Given the description of an element on the screen output the (x, y) to click on. 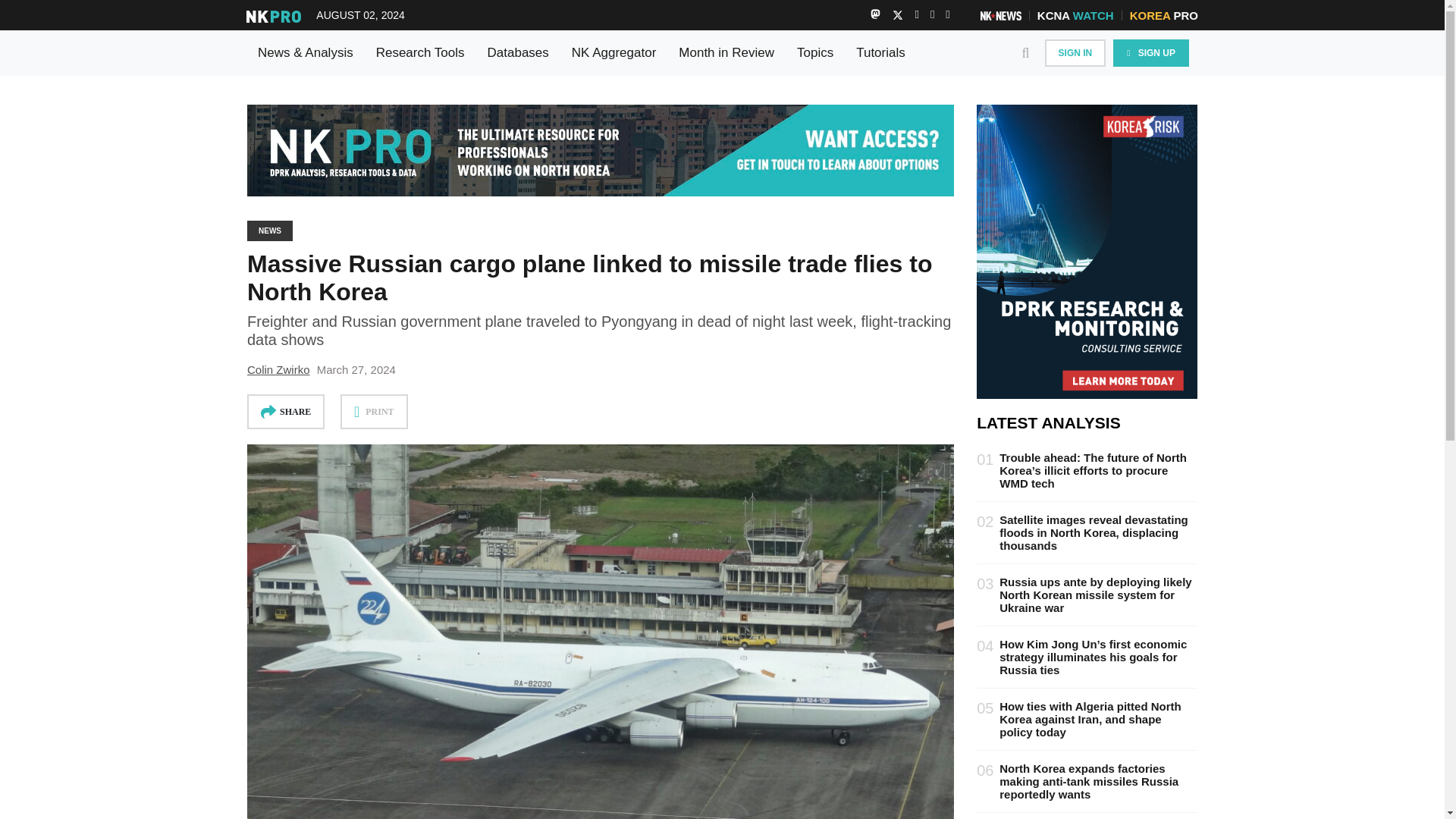
KOREA PRO (1163, 15)
KCNA WATCH (1074, 15)
